Given the description of an element on the screen output the (x, y) to click on. 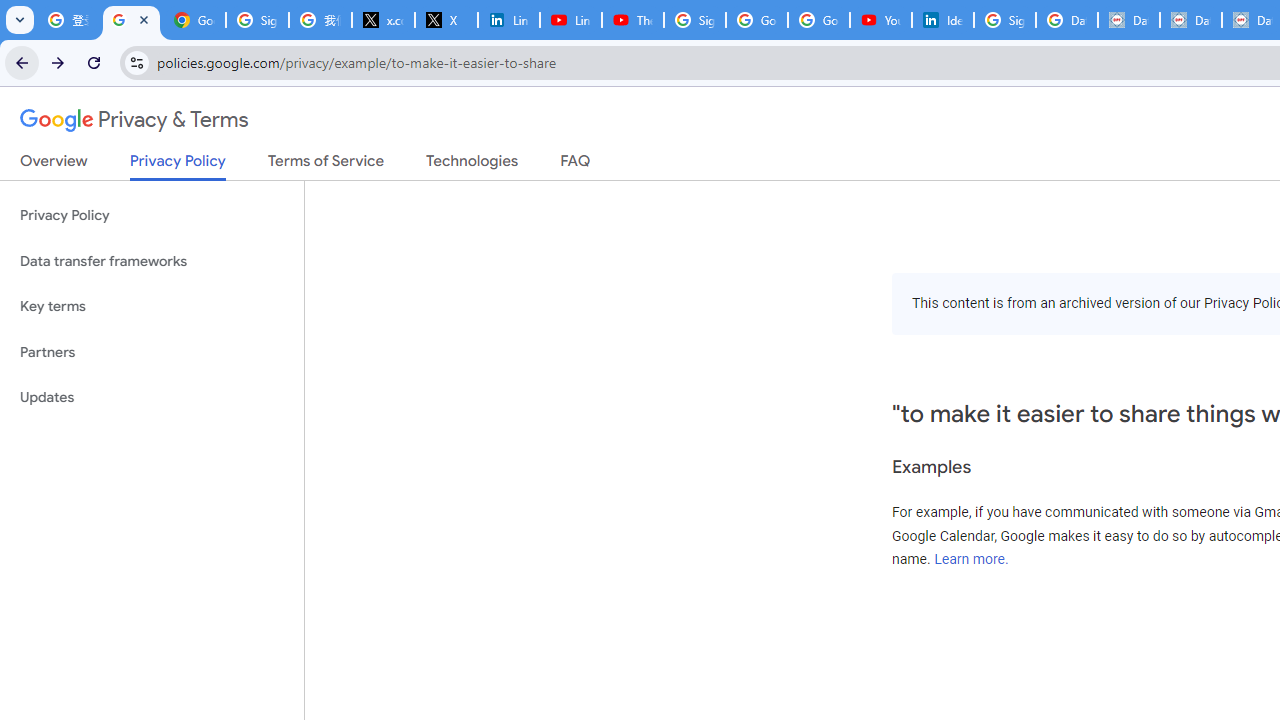
Sign in - Google Accounts (694, 20)
X (445, 20)
Partners (152, 352)
